Given the description of an element on the screen output the (x, y) to click on. 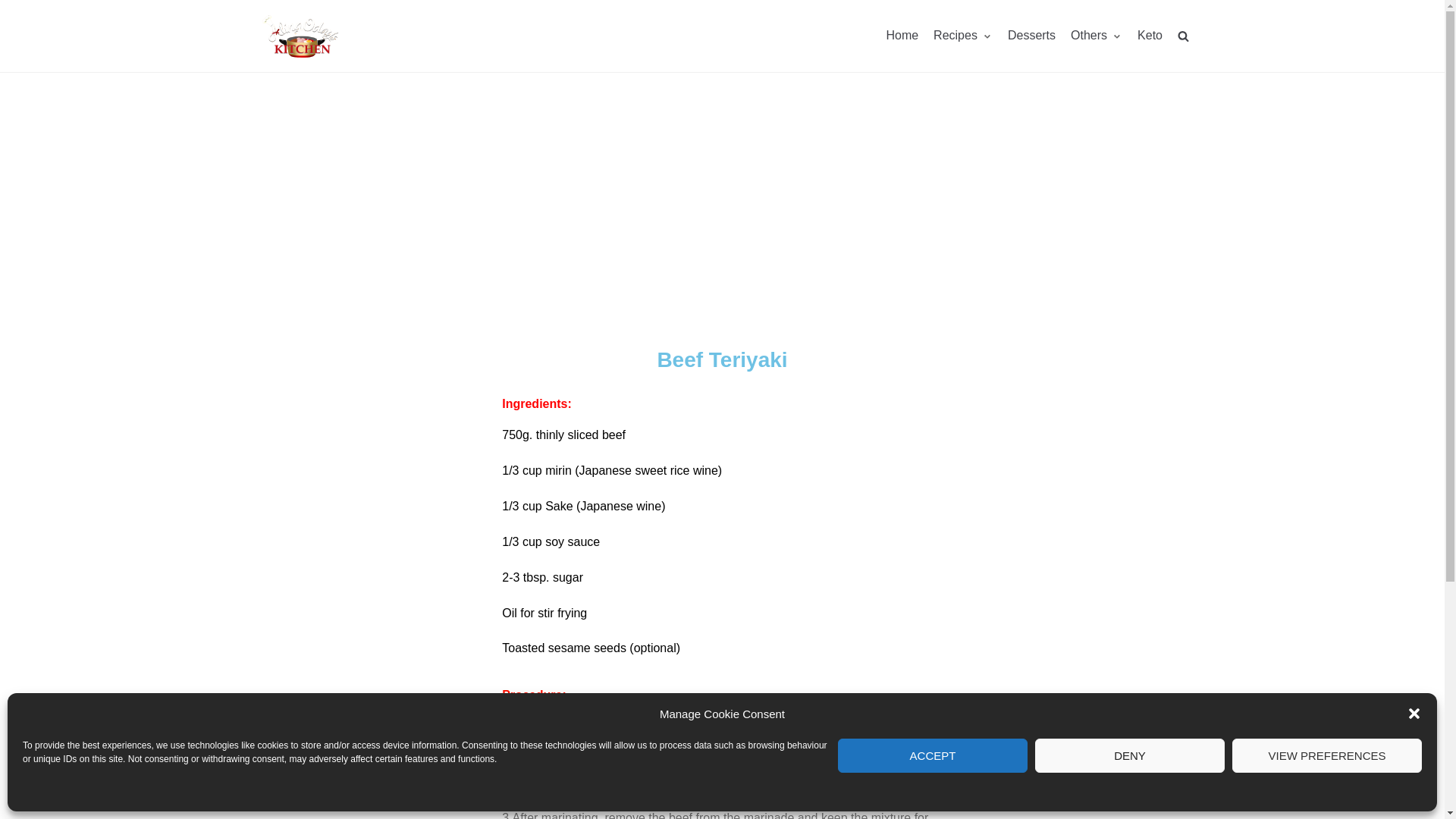
Skip to content (15, 7)
Keto (1149, 35)
VIEW PREFERENCES (1326, 755)
Home (901, 35)
Others (1096, 35)
ACCEPT (932, 755)
DENY (1129, 755)
Recipes (962, 35)
Search (1156, 69)
Aling Odays Kitchen (301, 35)
Desserts (1031, 35)
